Given the description of an element on the screen output the (x, y) to click on. 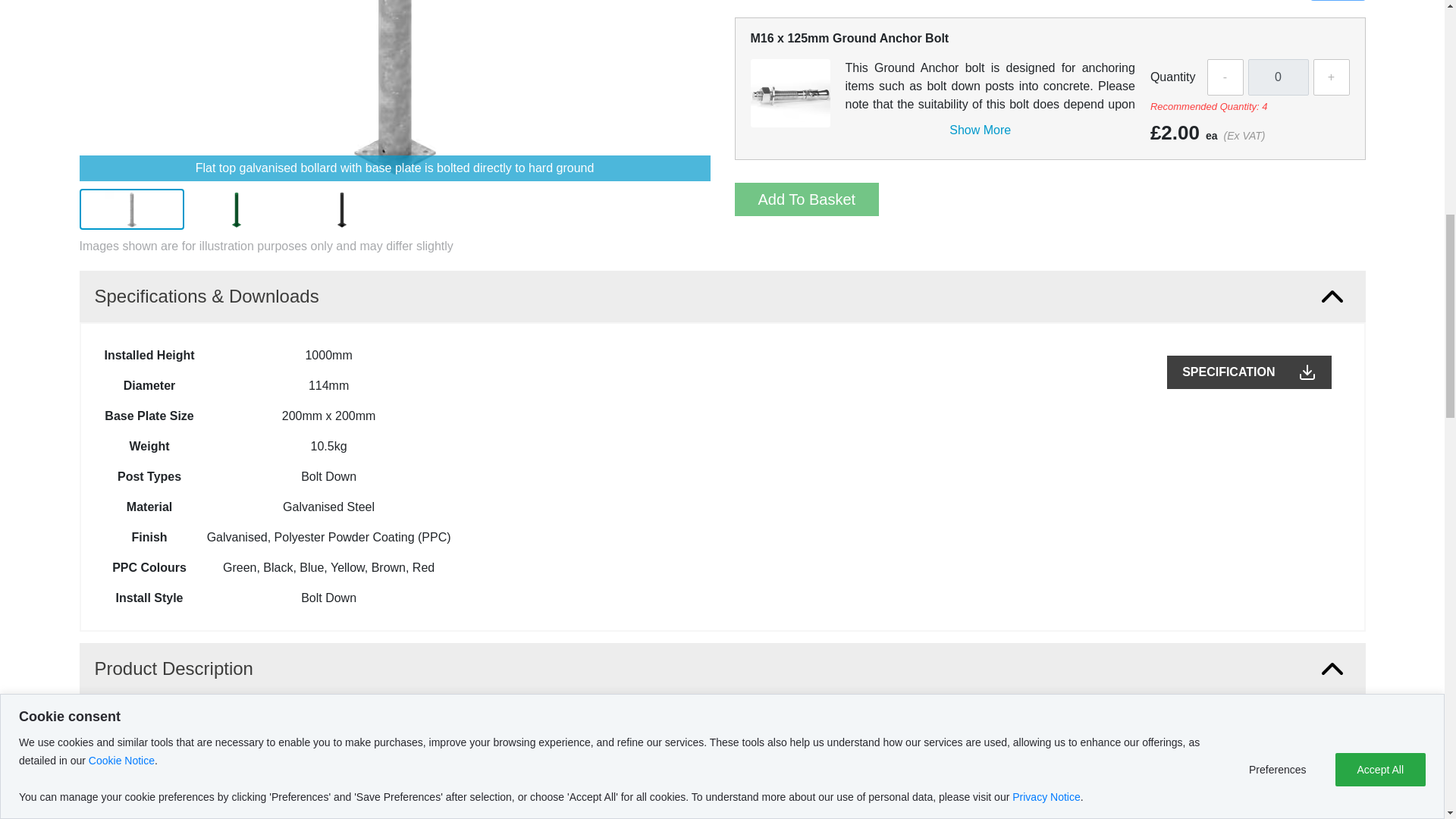
0 (1277, 76)
Cookie Notice (121, 507)
Preferences (1281, 388)
Privacy Notice (1045, 477)
Accept All (1380, 331)
